Given the description of an element on the screen output the (x, y) to click on. 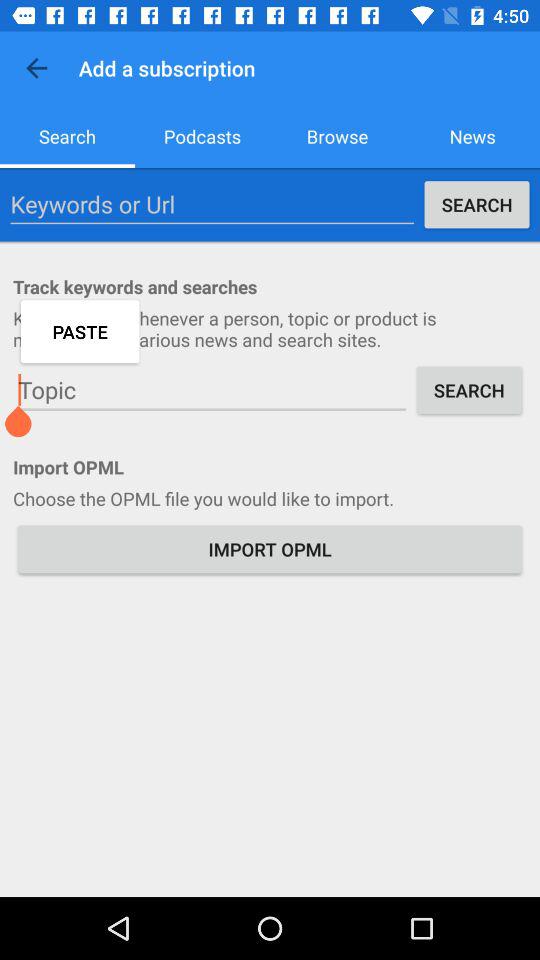
swipe until browse item (337, 136)
